Given the description of an element on the screen output the (x, y) to click on. 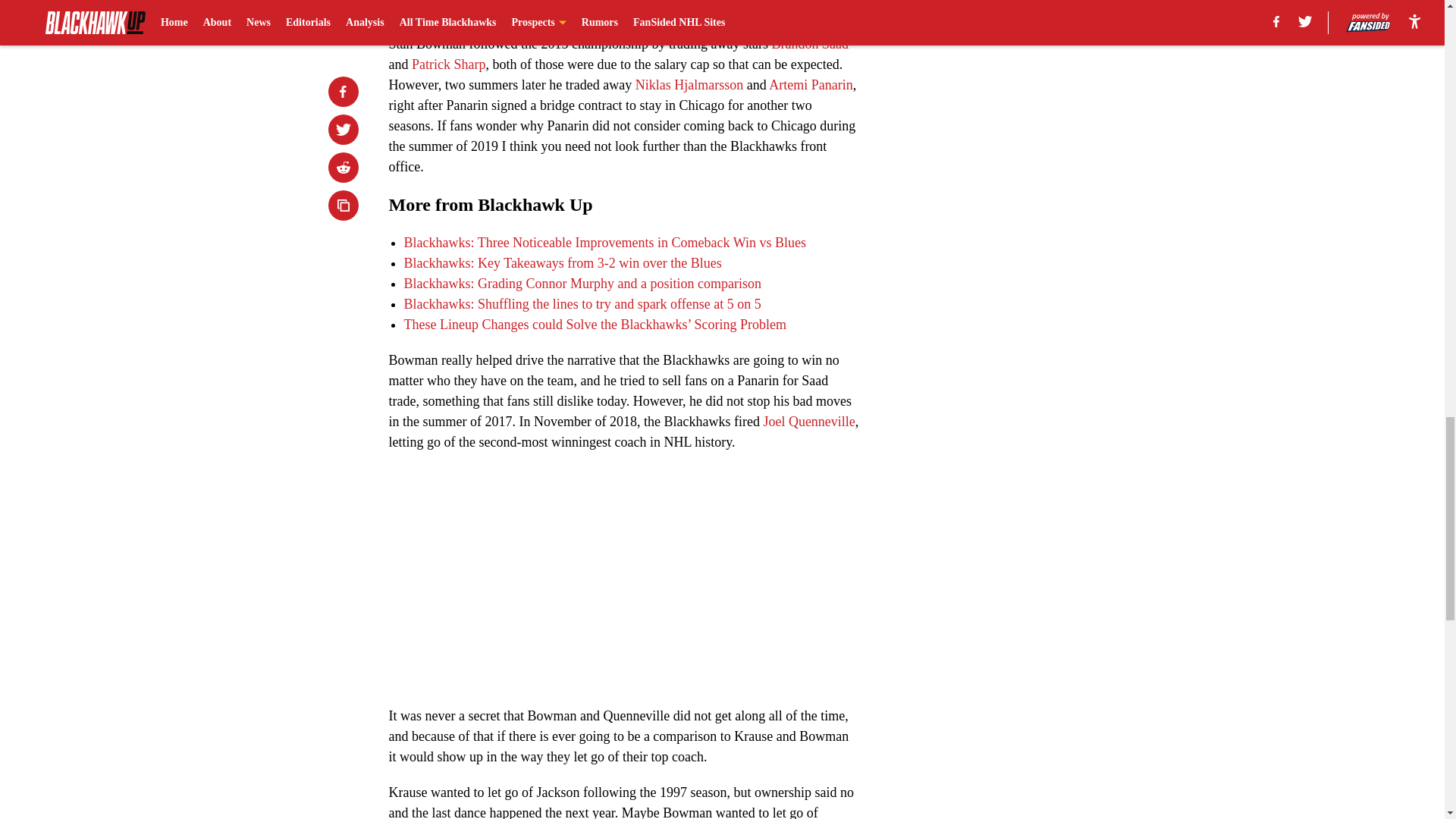
Joel Quenneville (808, 421)
Niklas Hjalmarsson (688, 84)
Artemi Panarin (809, 84)
Blackhawks: Grading Connor Murphy and a position comparison (581, 283)
Patrick Sharp (448, 64)
Blackhawks: Key Takeaways from 3-2 win over the Blues (561, 263)
Brandon Saad (809, 43)
